Given the description of an element on the screen output the (x, y) to click on. 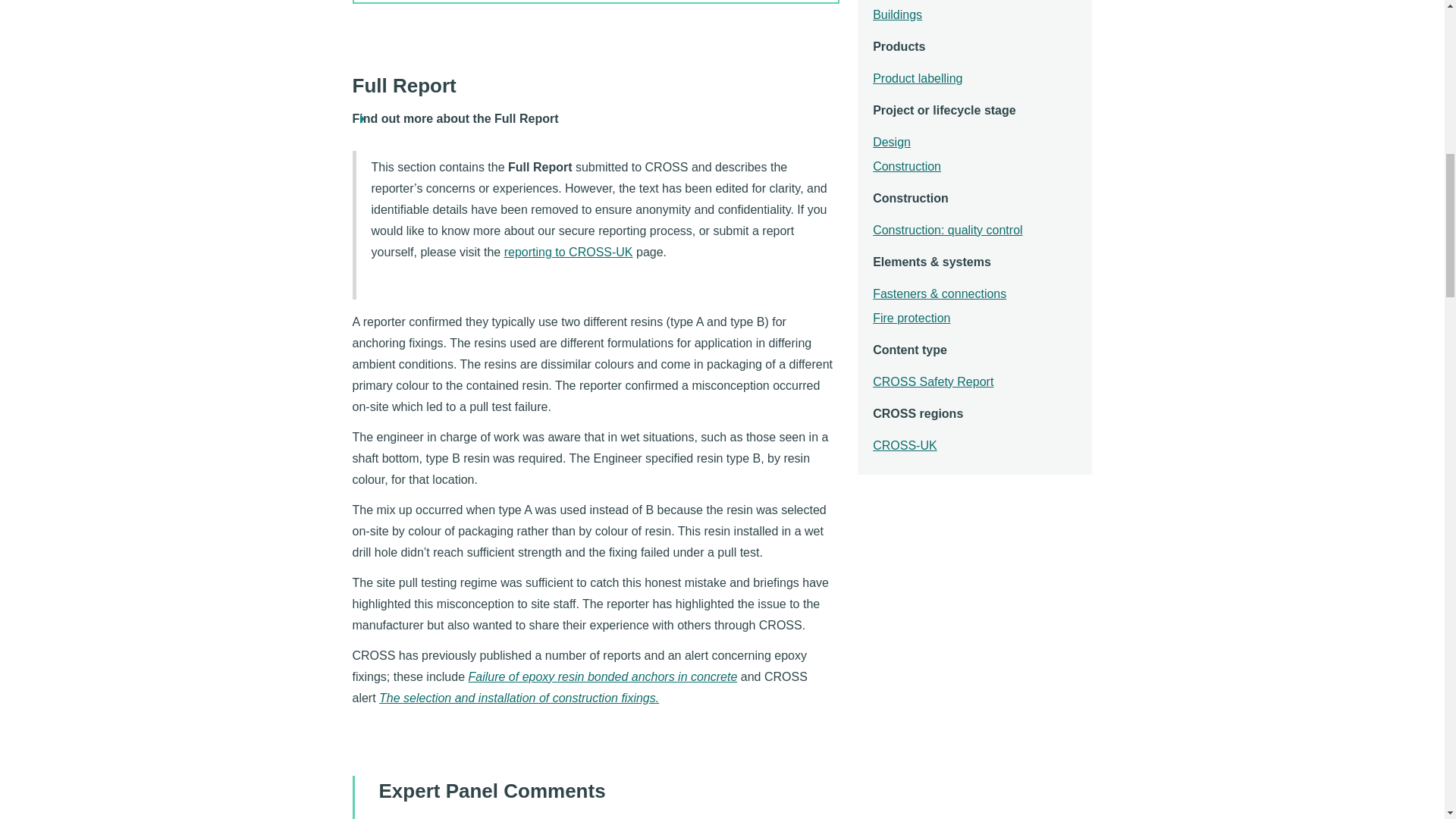
Failure of epoxy resin bonded anchors in concrete (601, 677)
Buildings (896, 15)
The selection and installation of construction fixings. (518, 698)
Design (891, 142)
reporting to CROSS-UK (568, 253)
Product labelling (917, 79)
